Given the description of an element on the screen output the (x, y) to click on. 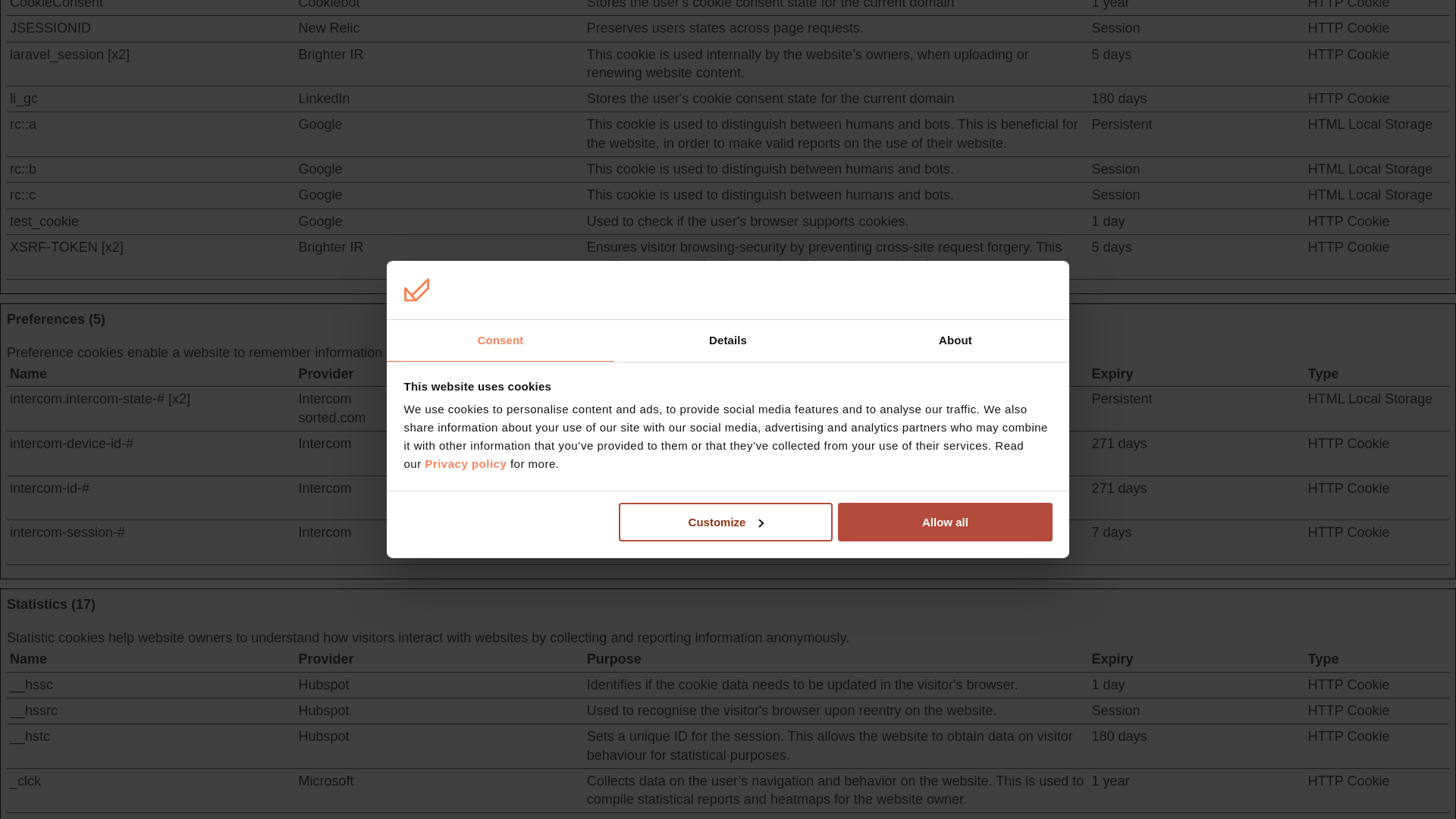
Cookiebot's privacy policy (328, 4)
Cookiebot (328, 4)
